Given the description of an element on the screen output the (x, y) to click on. 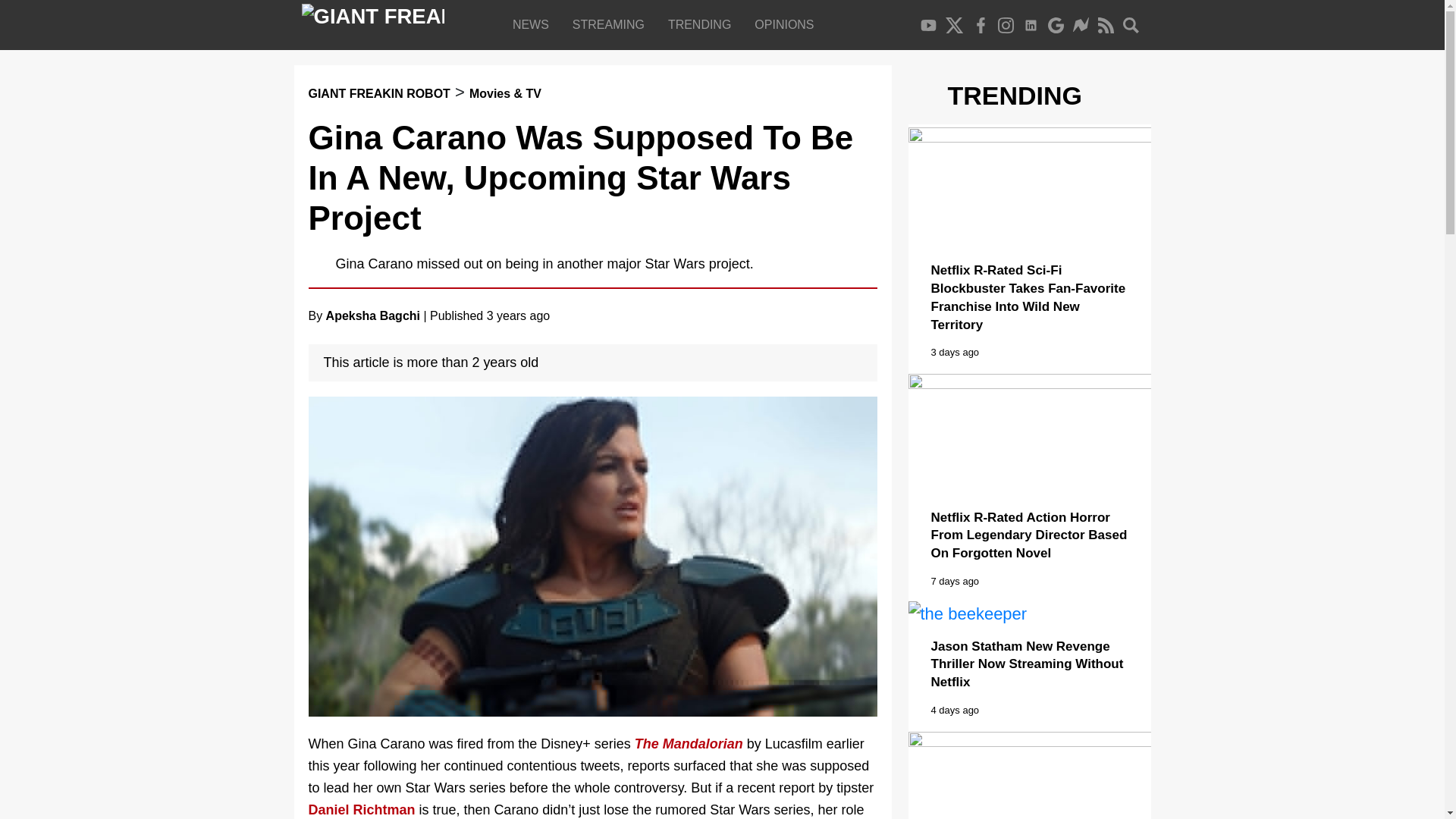
GIANT FREAKIN ROBOT (378, 92)
Apeksha Bagchi (373, 315)
Trending (702, 24)
NEWS (533, 24)
OPINIONS (786, 24)
STREAMING (611, 24)
The Mandalorian (688, 743)
Entertainment News (533, 24)
Streaming (611, 24)
